Given the description of an element on the screen output the (x, y) to click on. 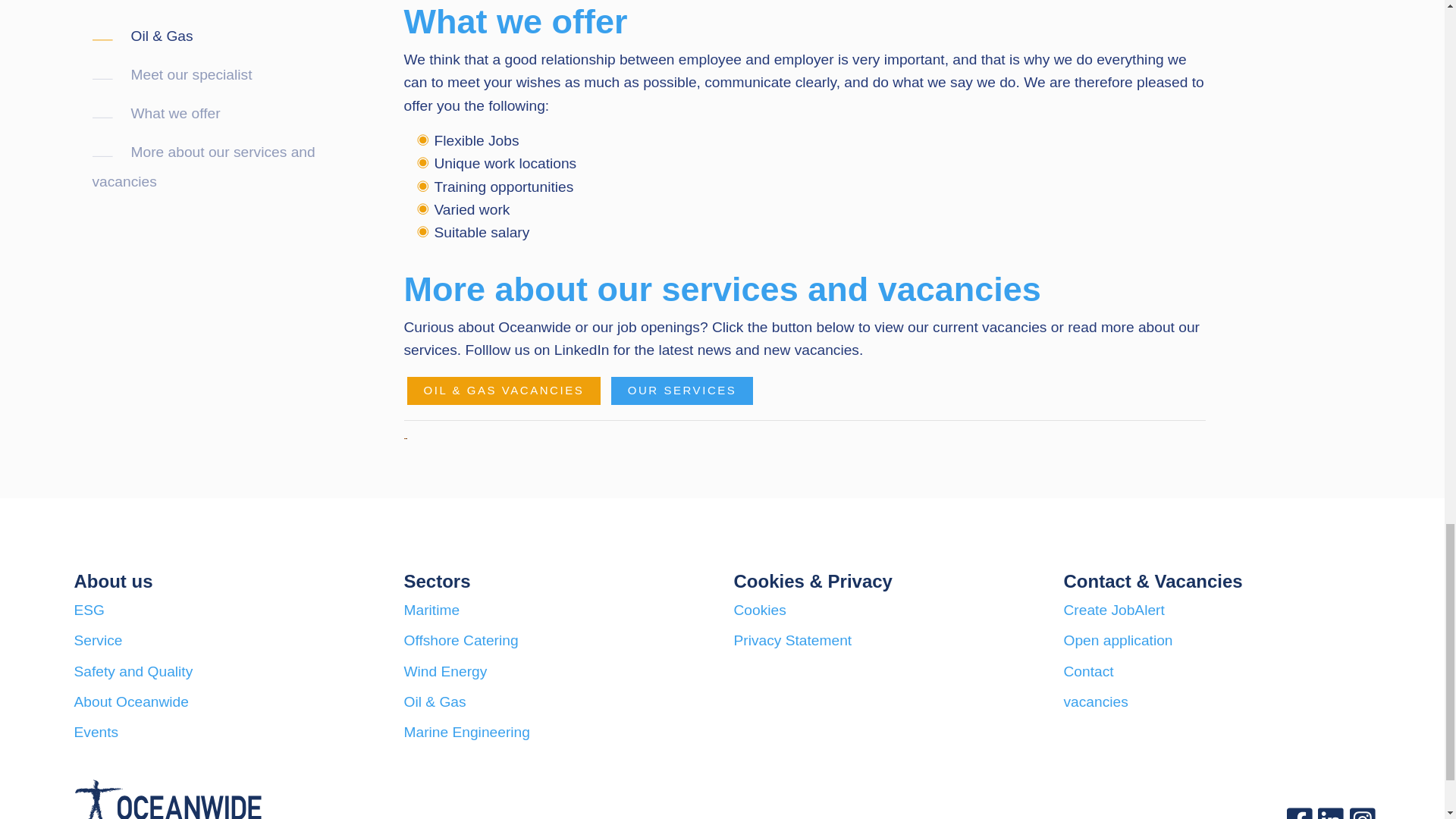
About Oceanwide (131, 701)
ESG (89, 609)
OUR SERVICES (682, 390)
Safety and Quality (133, 671)
Service (98, 640)
